Given the description of an element on the screen output the (x, y) to click on. 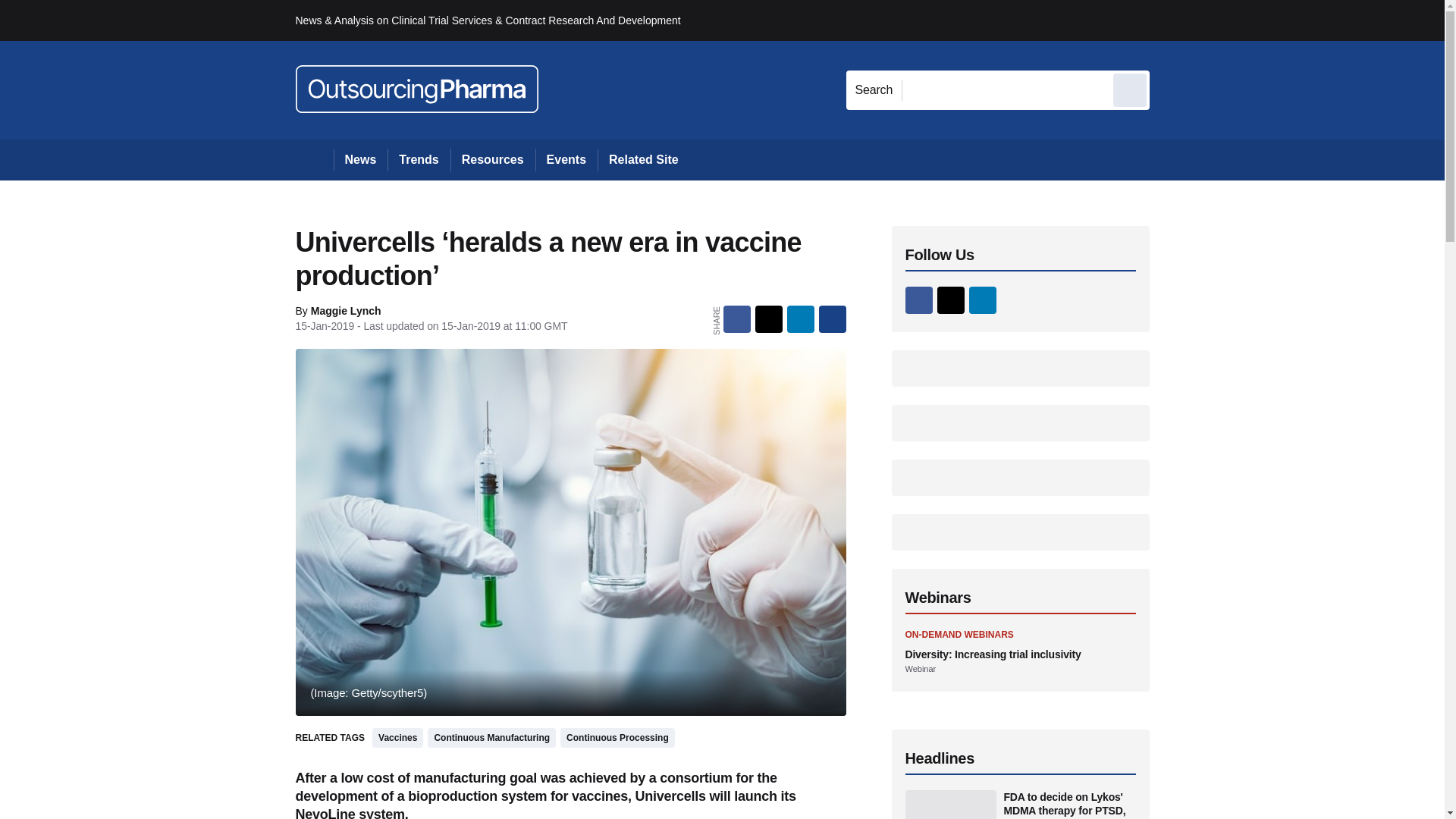
Sign out (1174, 20)
REGISTER (1250, 20)
Home (313, 159)
Send (1129, 89)
Resources (492, 159)
Home (314, 159)
News (360, 159)
OutsourcingPharma (416, 89)
Trends (418, 159)
Send (1129, 90)
